Given the description of an element on the screen output the (x, y) to click on. 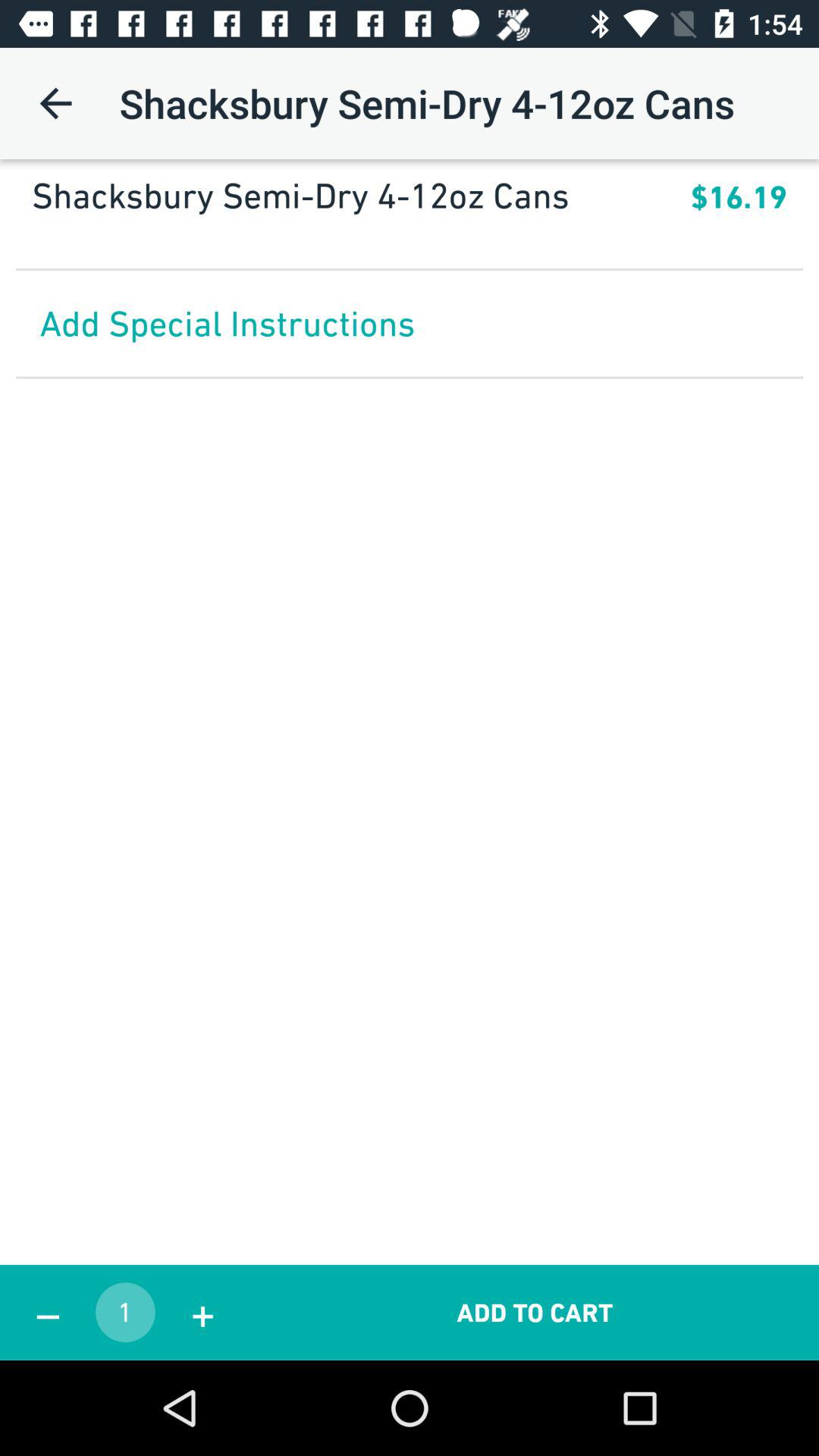
open the icon to the right of the 1 app (202, 1312)
